Given the description of an element on the screen output the (x, y) to click on. 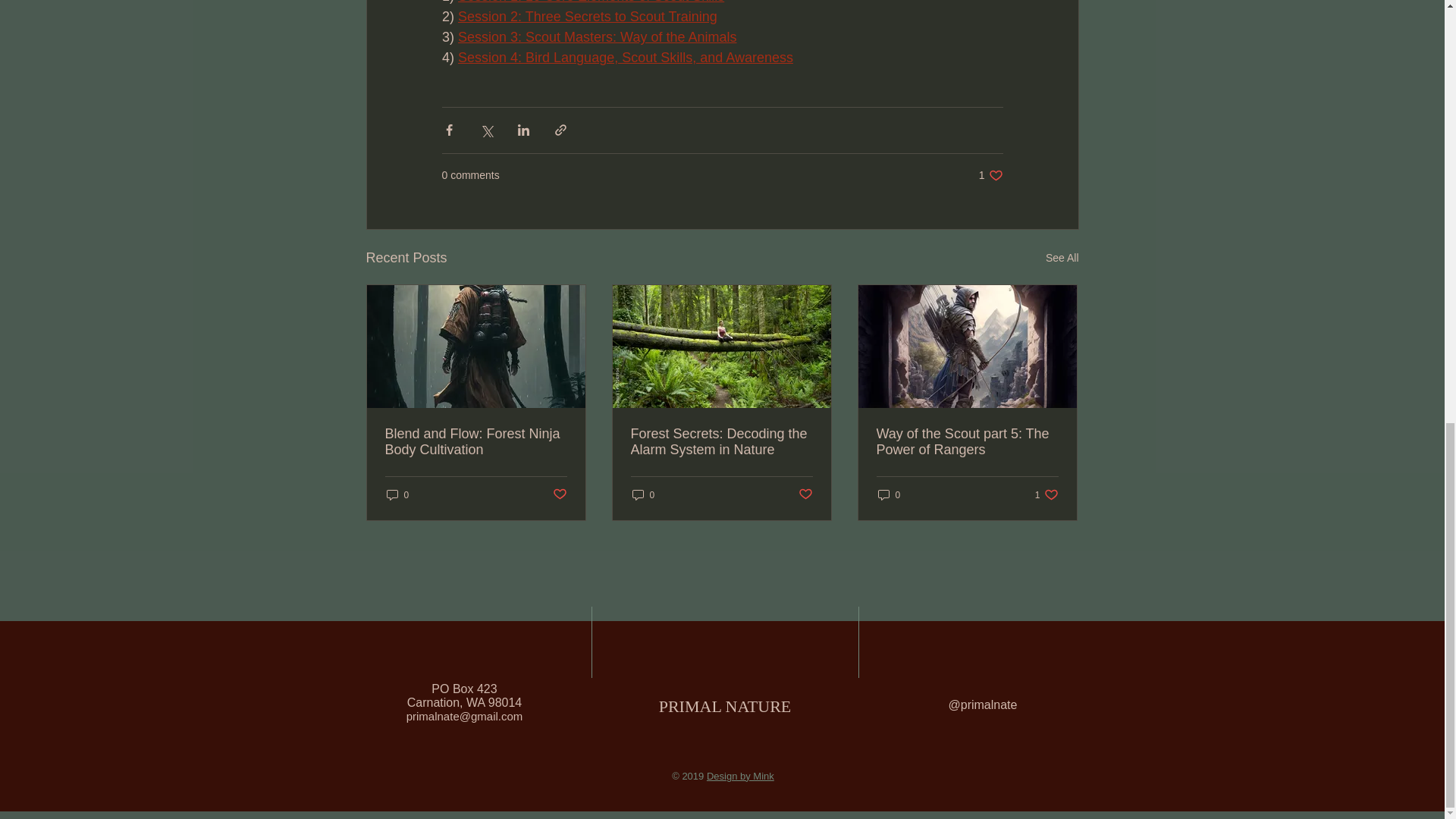
Blend and Flow: Forest Ninja Body Cultivation (476, 441)
Session 4: Bird Language, Scout Skills, and Awareness (625, 58)
Session 1: 10 Core Elements of Scout Skills (590, 2)
See All (1061, 258)
Session 3: Scout Masters: Way of the Animals (597, 37)
Session 2: Three Secrets to Scout Training (990, 175)
